Given the description of an element on the screen output the (x, y) to click on. 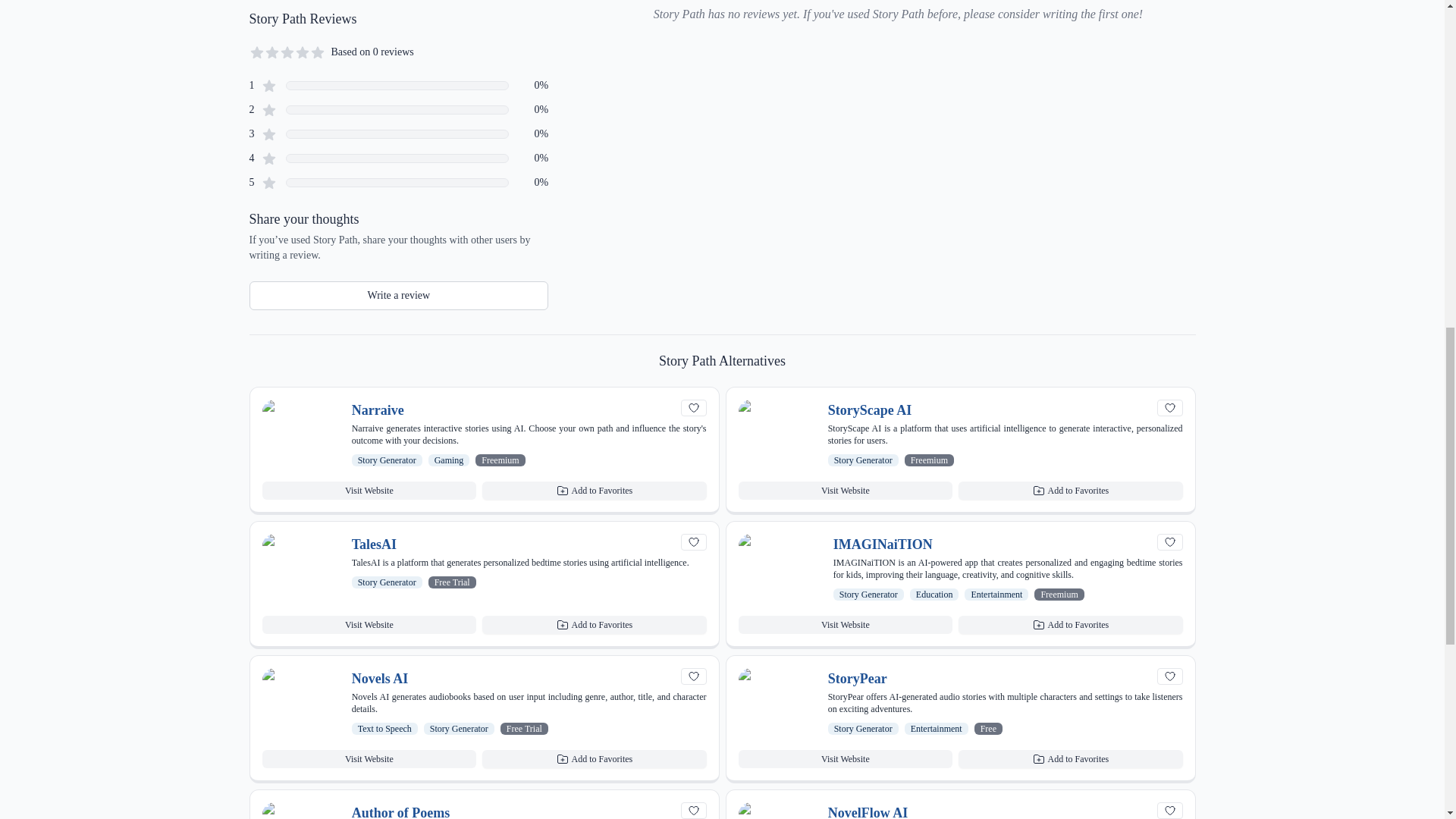
Story Generator (863, 460)
StoryScape AI (870, 409)
Story Generator (387, 460)
Add to Favorites (593, 490)
Write a review (398, 295)
Gaming (448, 460)
Visit Website (369, 490)
Narraive (378, 409)
